Given the description of an element on the screen output the (x, y) to click on. 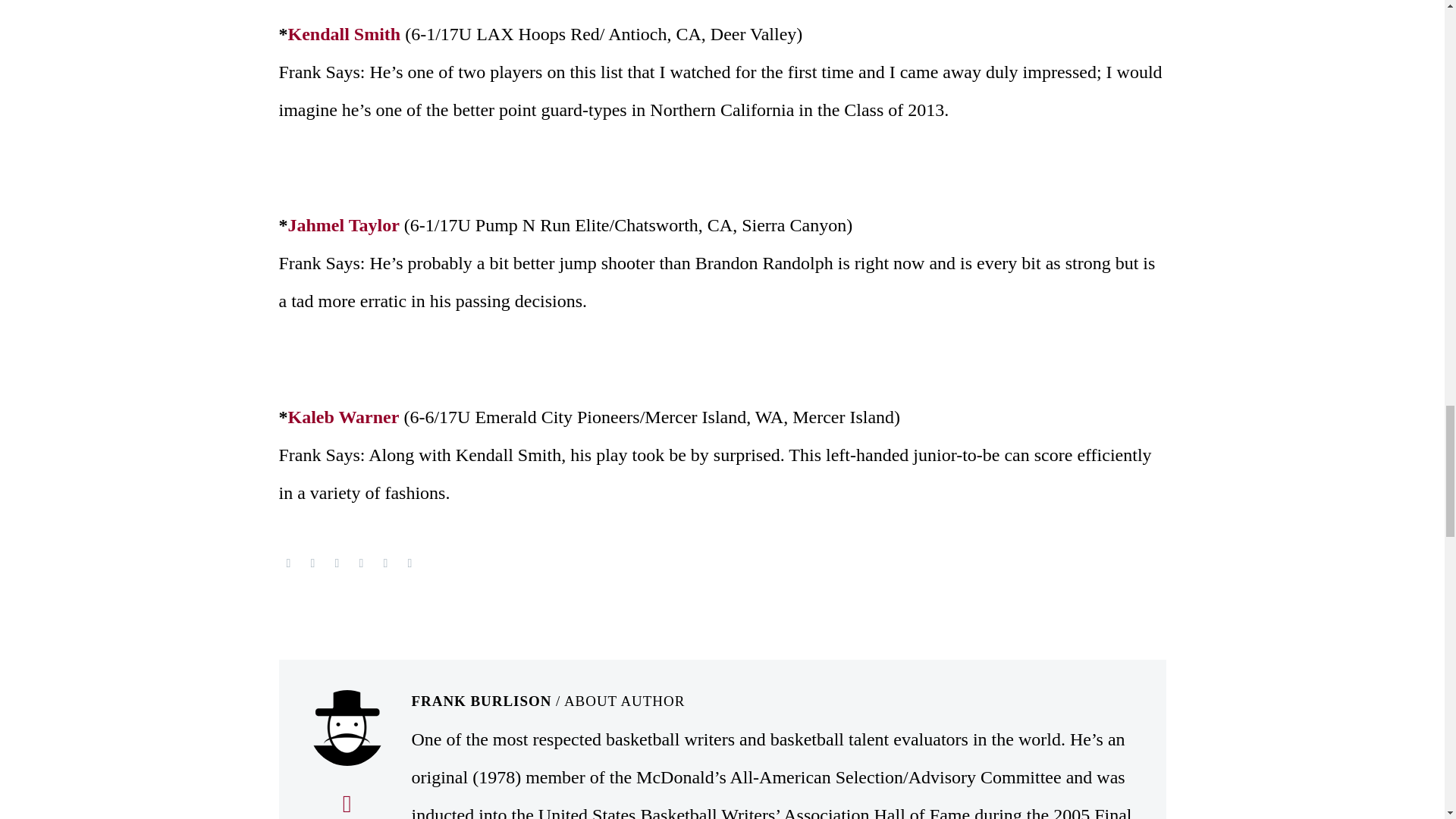
Twitter (311, 563)
Pinterest (336, 563)
Reddit (408, 563)
Kaleb Warner (343, 416)
Tumblr (360, 563)
Kaleb Warner (343, 416)
Kendall Smith (344, 34)
Kendall Smith (344, 34)
Jahmel Taylor (343, 225)
Facebook (288, 563)
Jahmel Taylor (343, 225)
LinkedIn (384, 563)
